Given the description of an element on the screen output the (x, y) to click on. 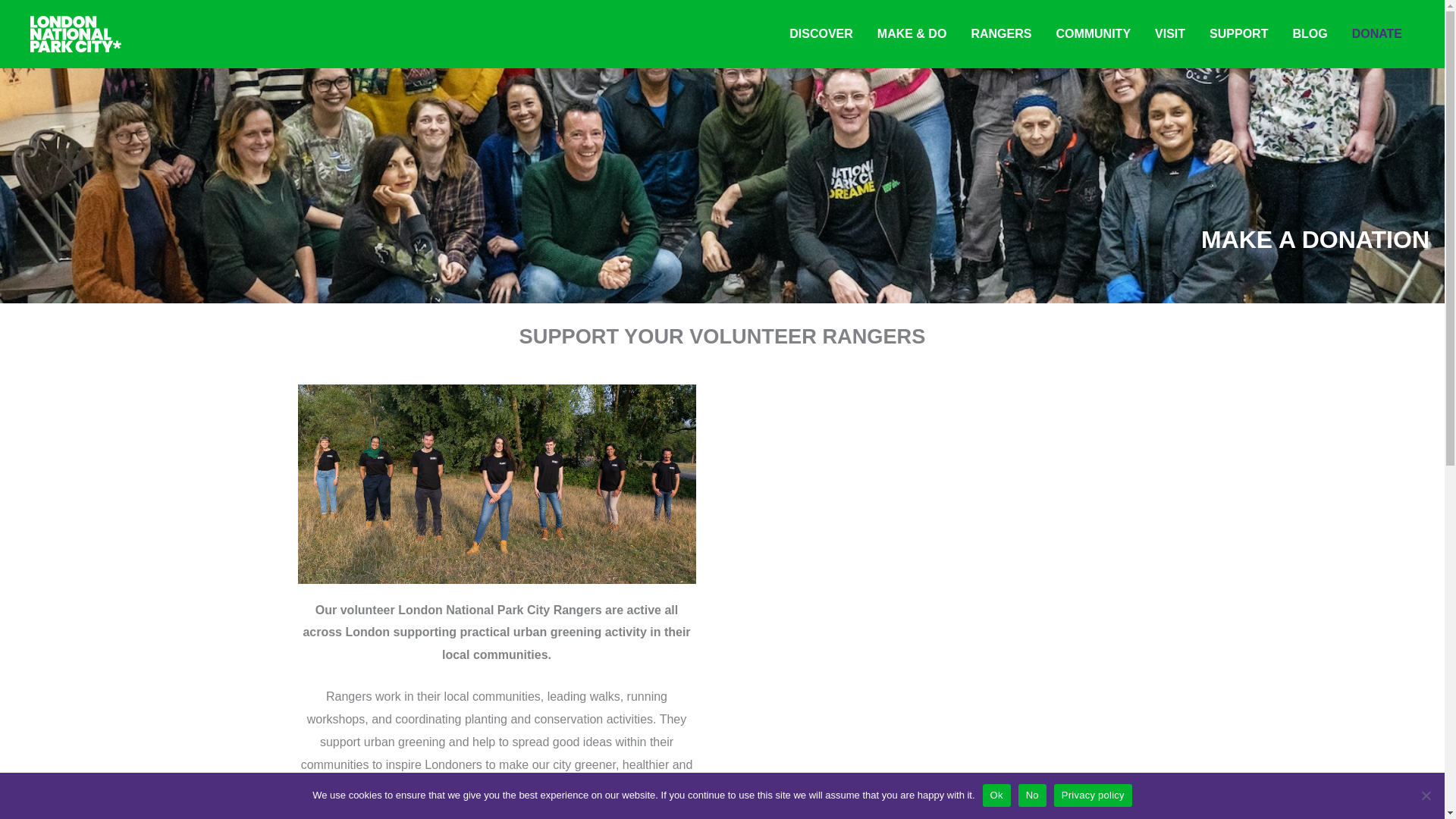
SUPPORT (1237, 34)
RANGERS (1000, 34)
DISCOVER (820, 34)
BLOG (1309, 34)
COMMUNITY (1092, 34)
VISIT (1169, 34)
DONATE (1376, 34)
No (1425, 795)
